Given the description of an element on the screen output the (x, y) to click on. 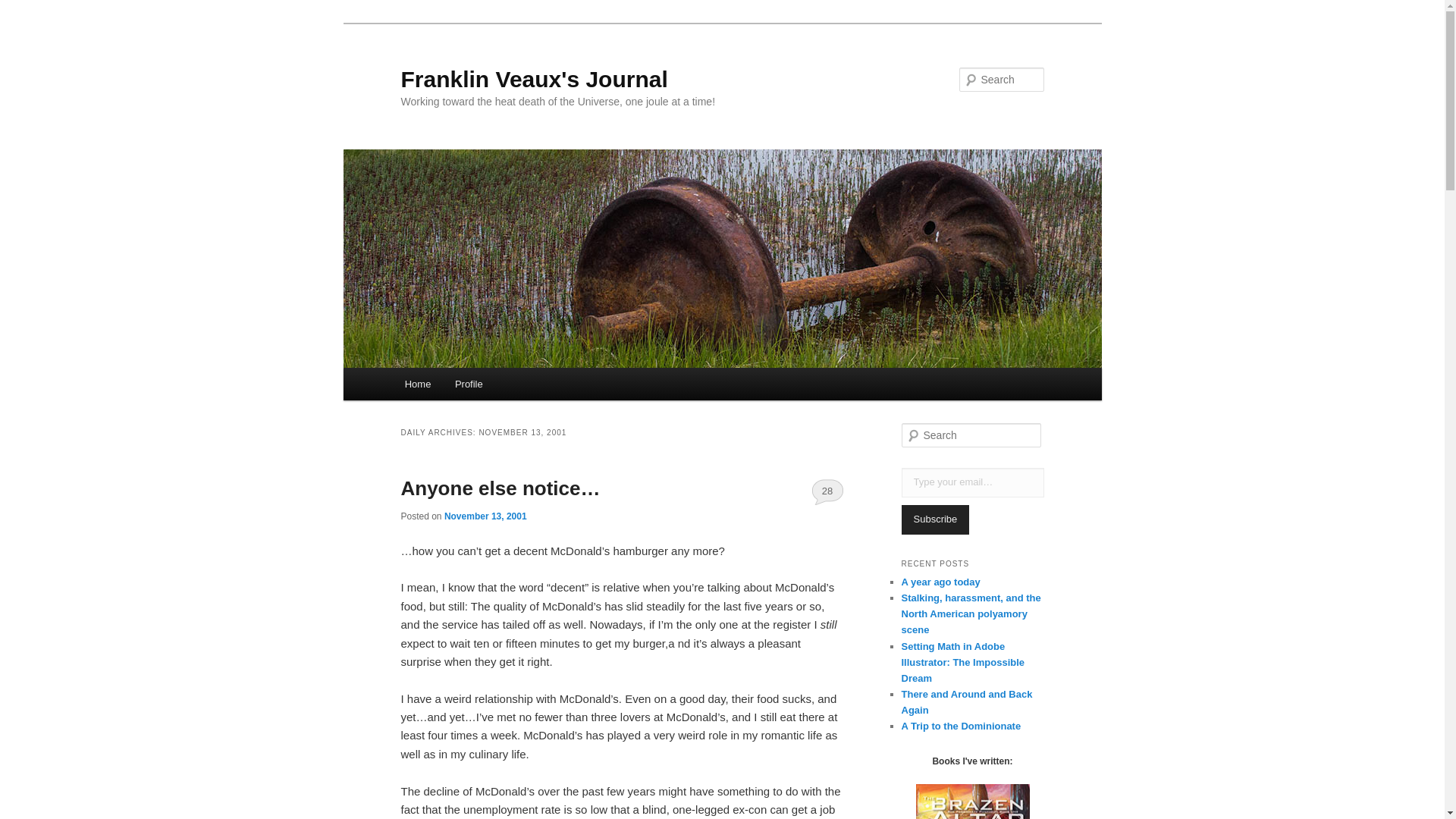
Profile (468, 383)
7:23 pm (485, 516)
Subscribe (935, 519)
A Trip to the Dominionate (960, 726)
Search (24, 8)
November 13, 2001 (485, 516)
28 (827, 491)
Home (417, 383)
Please fill in this field. (972, 482)
There and Around and Back Again (966, 701)
Stalking, harassment, and the North American polyamory scene (971, 613)
Search (21, 11)
A year ago today (940, 582)
Franklin Veaux's Journal (533, 78)
